Given the description of an element on the screen output the (x, y) to click on. 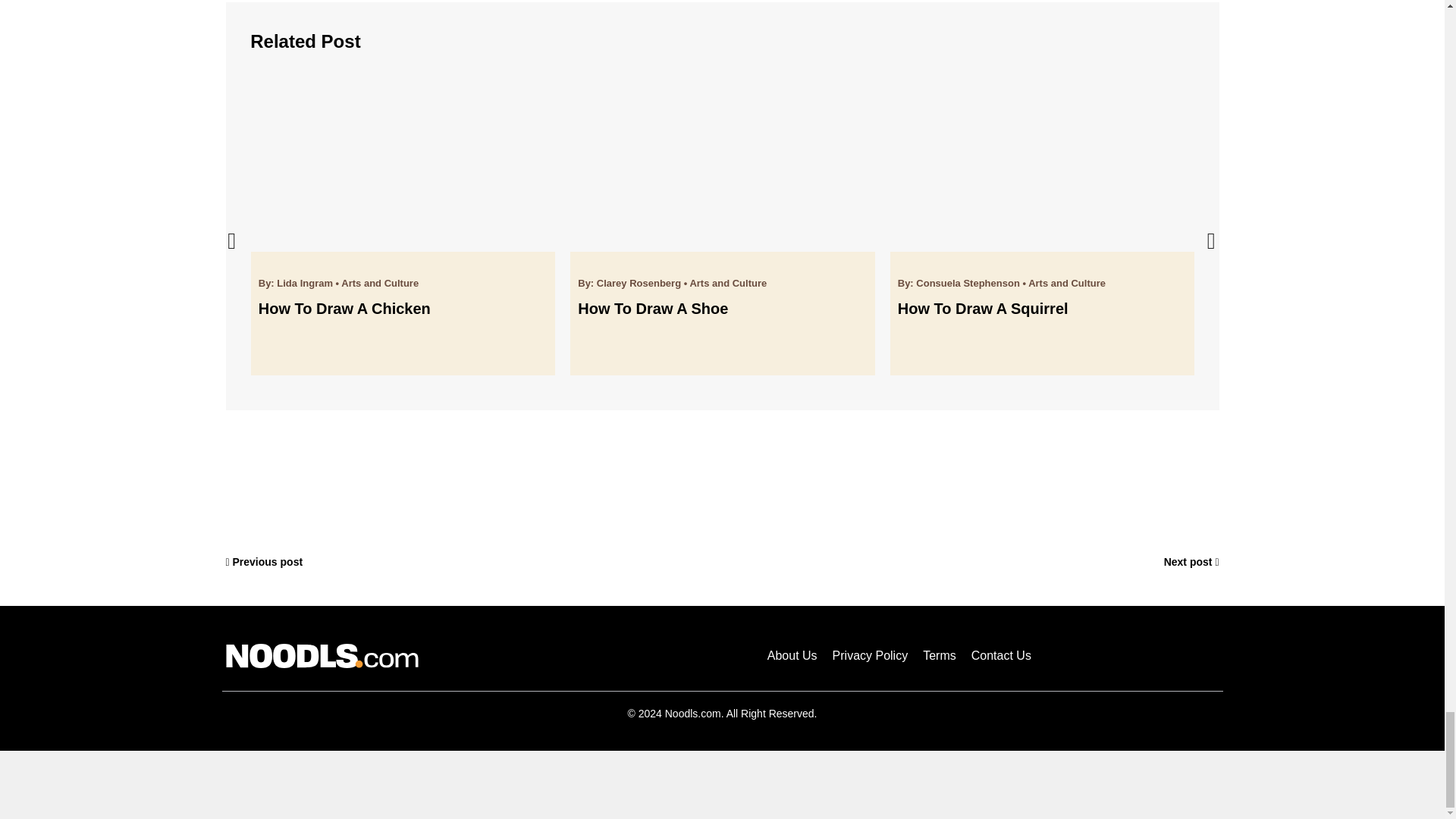
Noodls (322, 655)
